Given the description of an element on the screen output the (x, y) to click on. 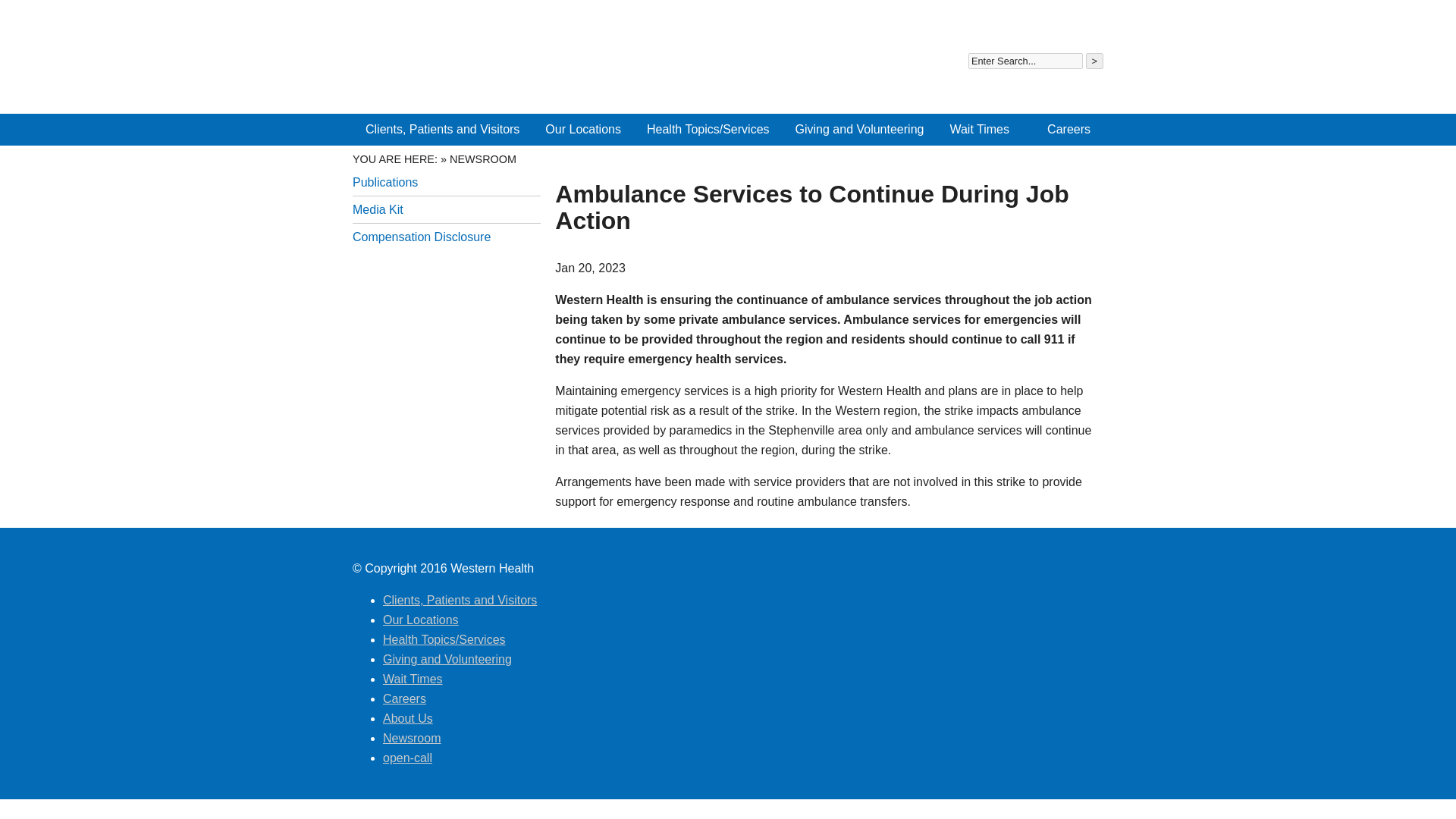
Clients, Patients and Visitors (442, 129)
Enter Search... (1025, 60)
Enter Search... (1025, 60)
Wait Times (979, 129)
open-call (1081, 21)
open-call (1081, 21)
About Us (965, 21)
Newsroom (1023, 21)
Compensation Disclosure (446, 236)
About Us (965, 21)
Media Kit (446, 209)
Newsroom (1023, 21)
Careers (1068, 129)
Our Locations (582, 129)
Giving and Volunteering (860, 129)
